Given the description of an element on the screen output the (x, y) to click on. 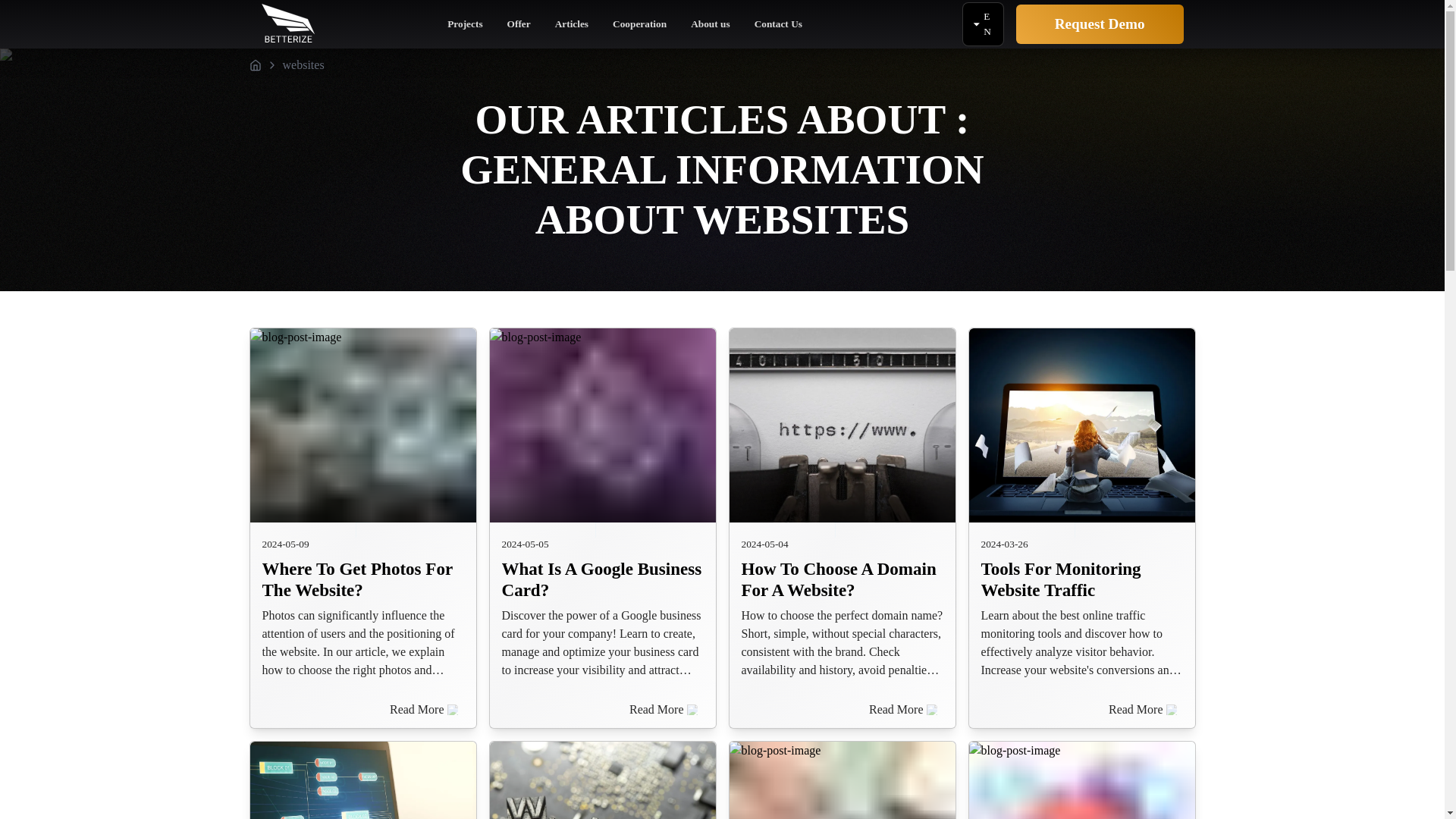
Request Demo (1099, 24)
Cooperation (639, 27)
websites (302, 64)
